Given the description of an element on the screen output the (x, y) to click on. 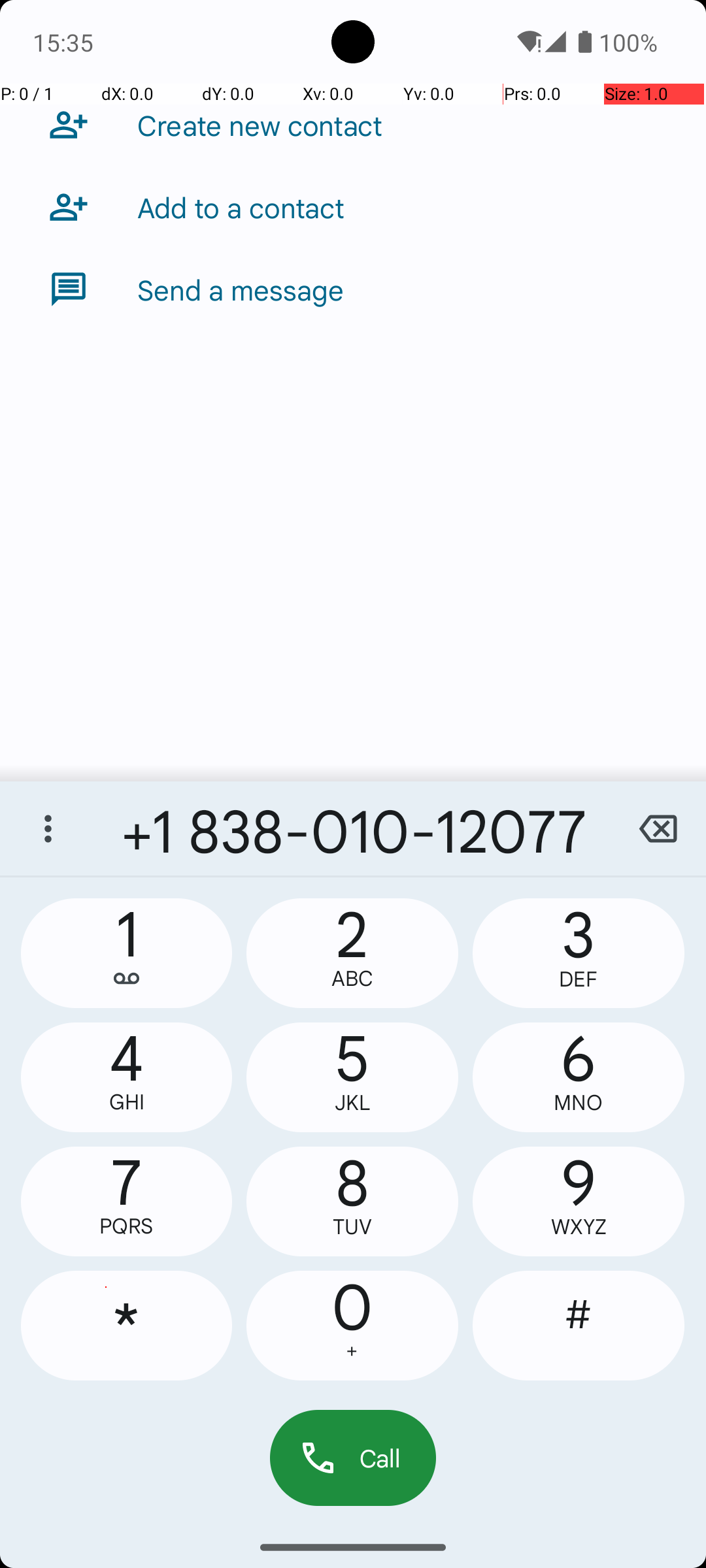
+1 838-010-12077 Element type: android.widget.EditText (352, 828)
Add to a contact Element type: android.widget.TextView (240, 206)
Send a message Element type: android.widget.TextView (240, 289)
